Given the description of an element on the screen output the (x, y) to click on. 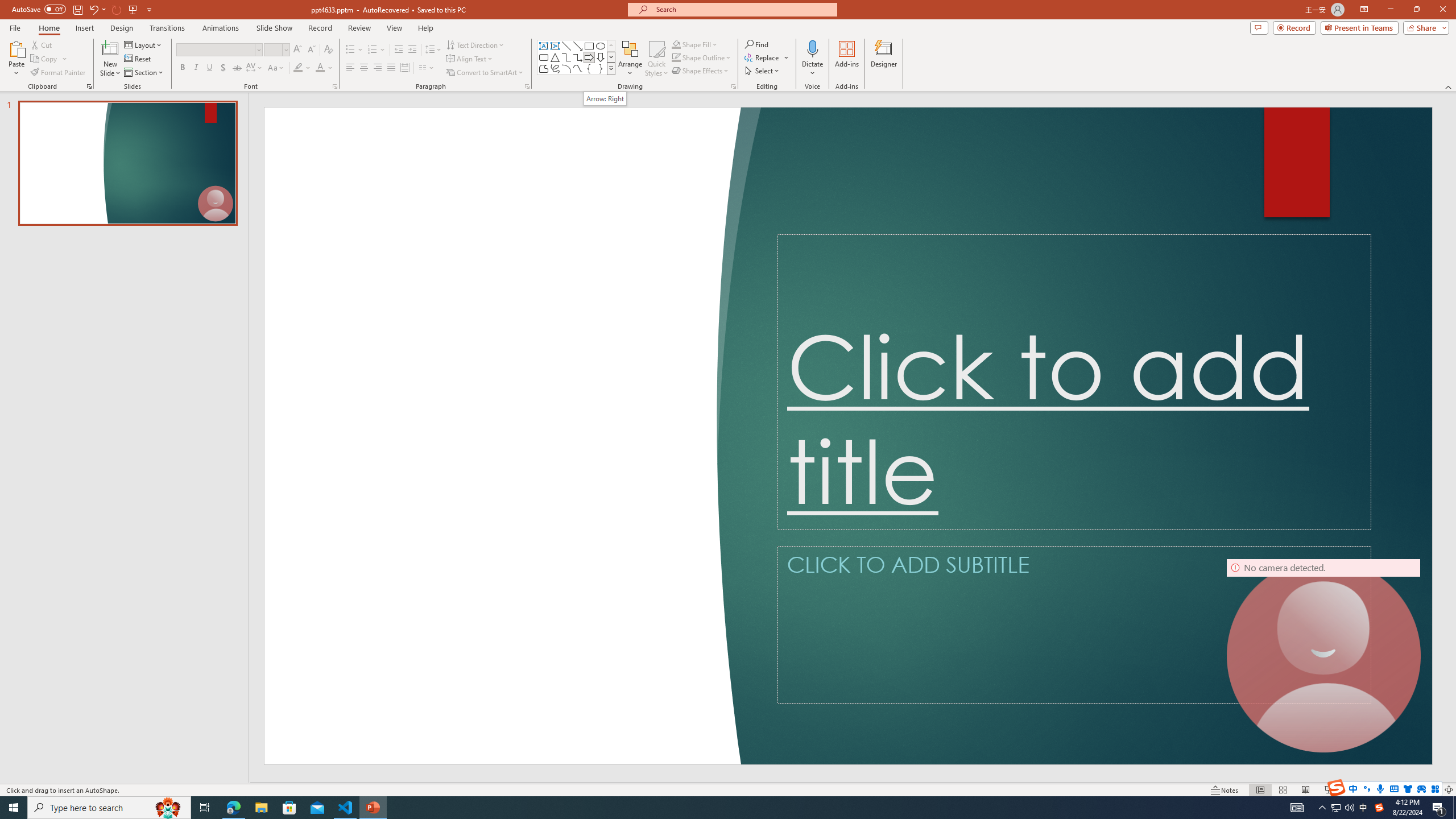
Quick Styles (656, 58)
Font... (334, 85)
Oval (600, 45)
Vertical Text Box (554, 45)
Office Clipboard... (88, 85)
Line Spacing (433, 49)
Center (363, 67)
Align Right (377, 67)
